Given the description of an element on the screen output the (x, y) to click on. 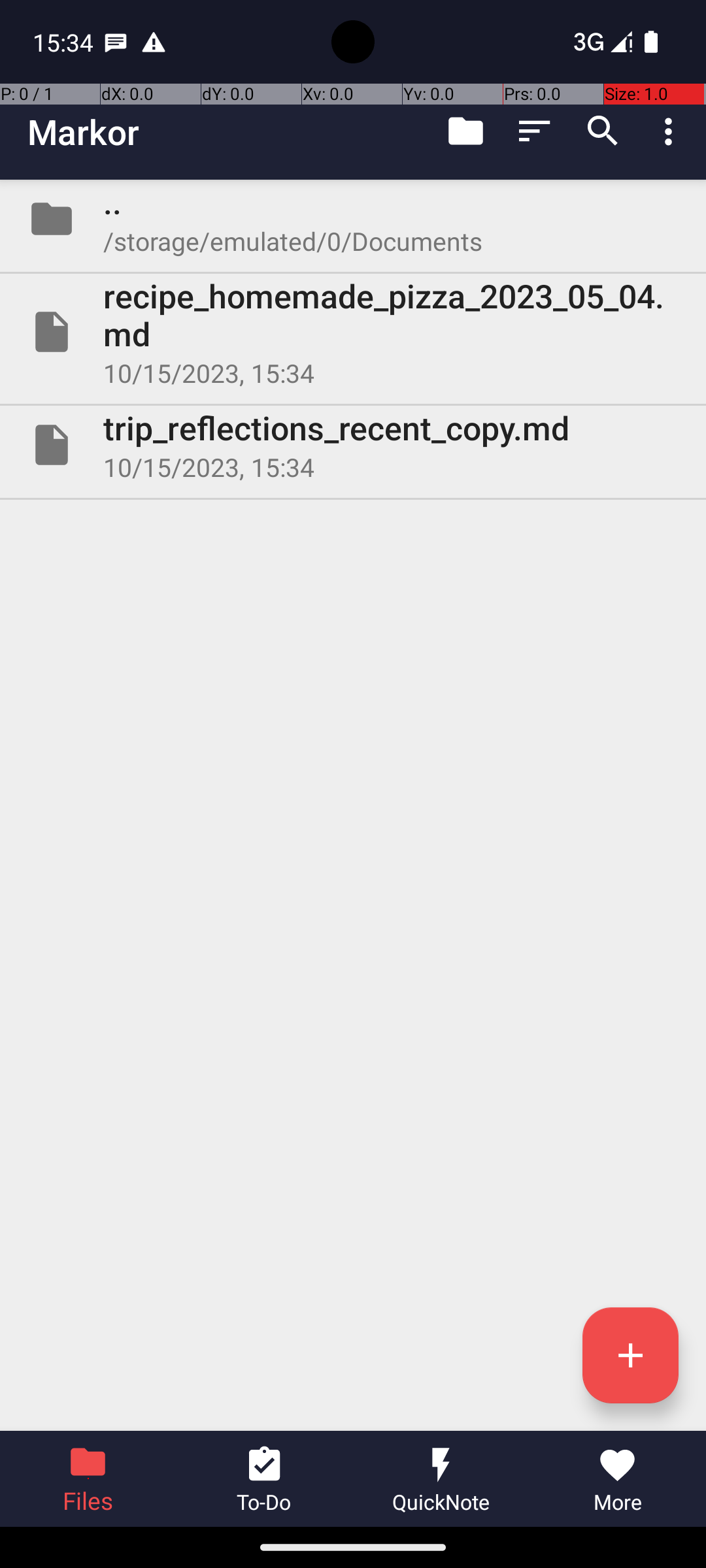
Folder ..  Element type: android.widget.LinearLayout (353, 218)
File recipe_homemade_pizza_2023_05_04.md  Element type: android.widget.LinearLayout (353, 331)
File trip_reflections_recent_copy.md  Element type: android.widget.LinearLayout (353, 444)
